Given the description of an element on the screen output the (x, y) to click on. 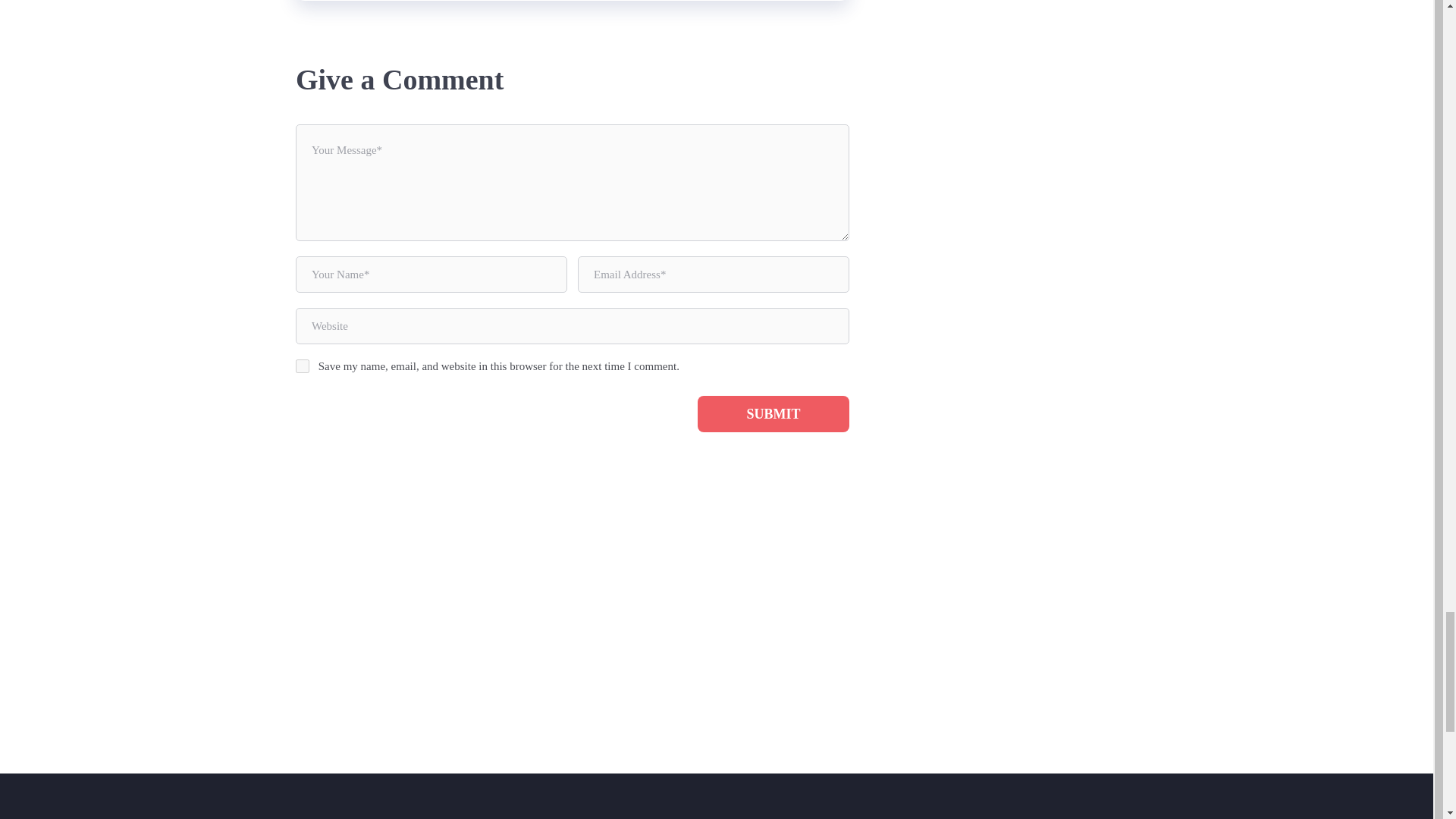
Submit (772, 413)
yes (301, 366)
Submit (772, 413)
